Given the description of an element on the screen output the (x, y) to click on. 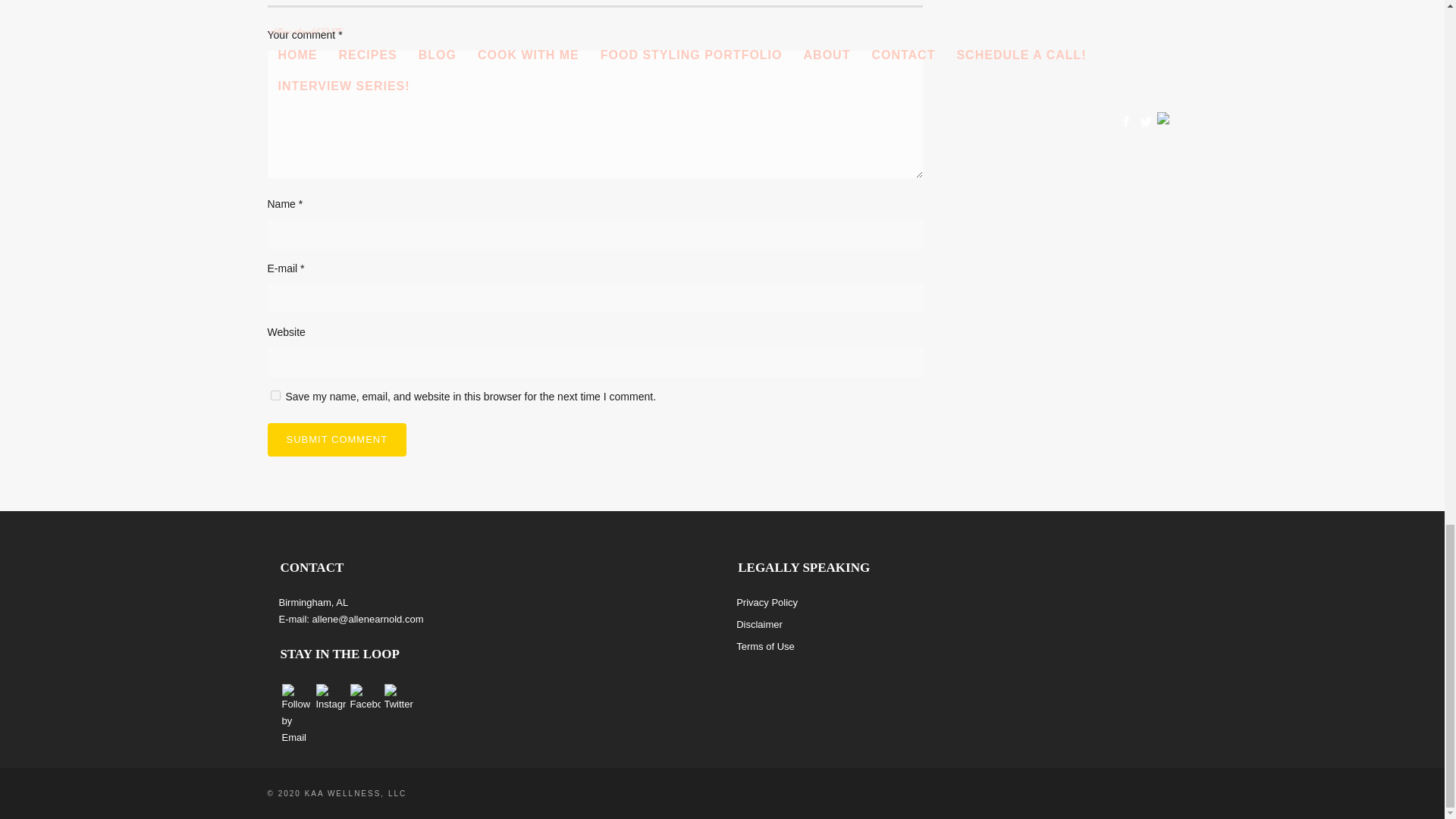
yes (274, 395)
Submit comment (336, 439)
Twitter (398, 697)
Facebook (365, 697)
Submit comment (336, 439)
Instagram (330, 697)
